Given the description of an element on the screen output the (x, y) to click on. 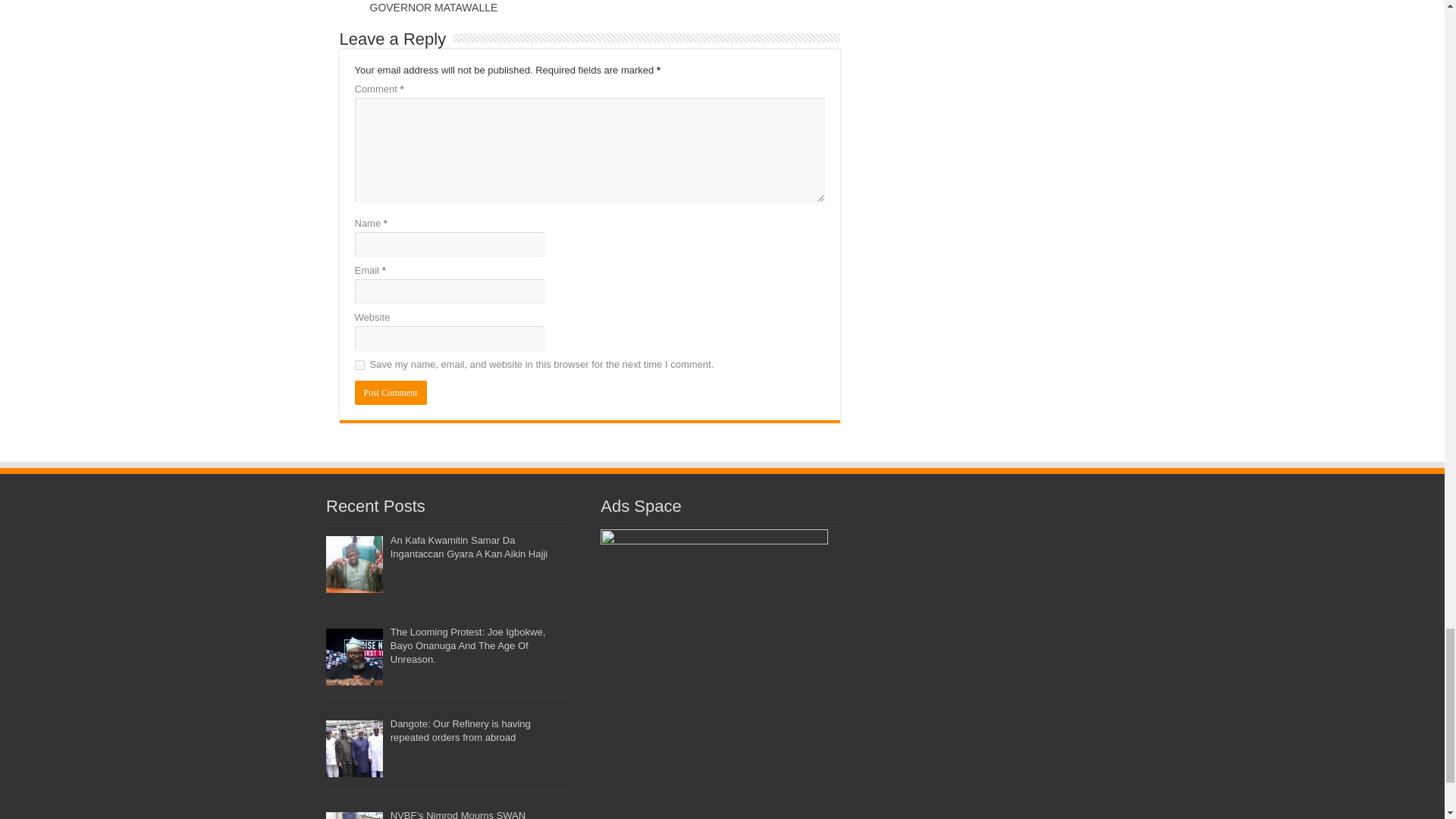
Post Comment (390, 392)
yes (360, 365)
